Given the description of an element on the screen output the (x, y) to click on. 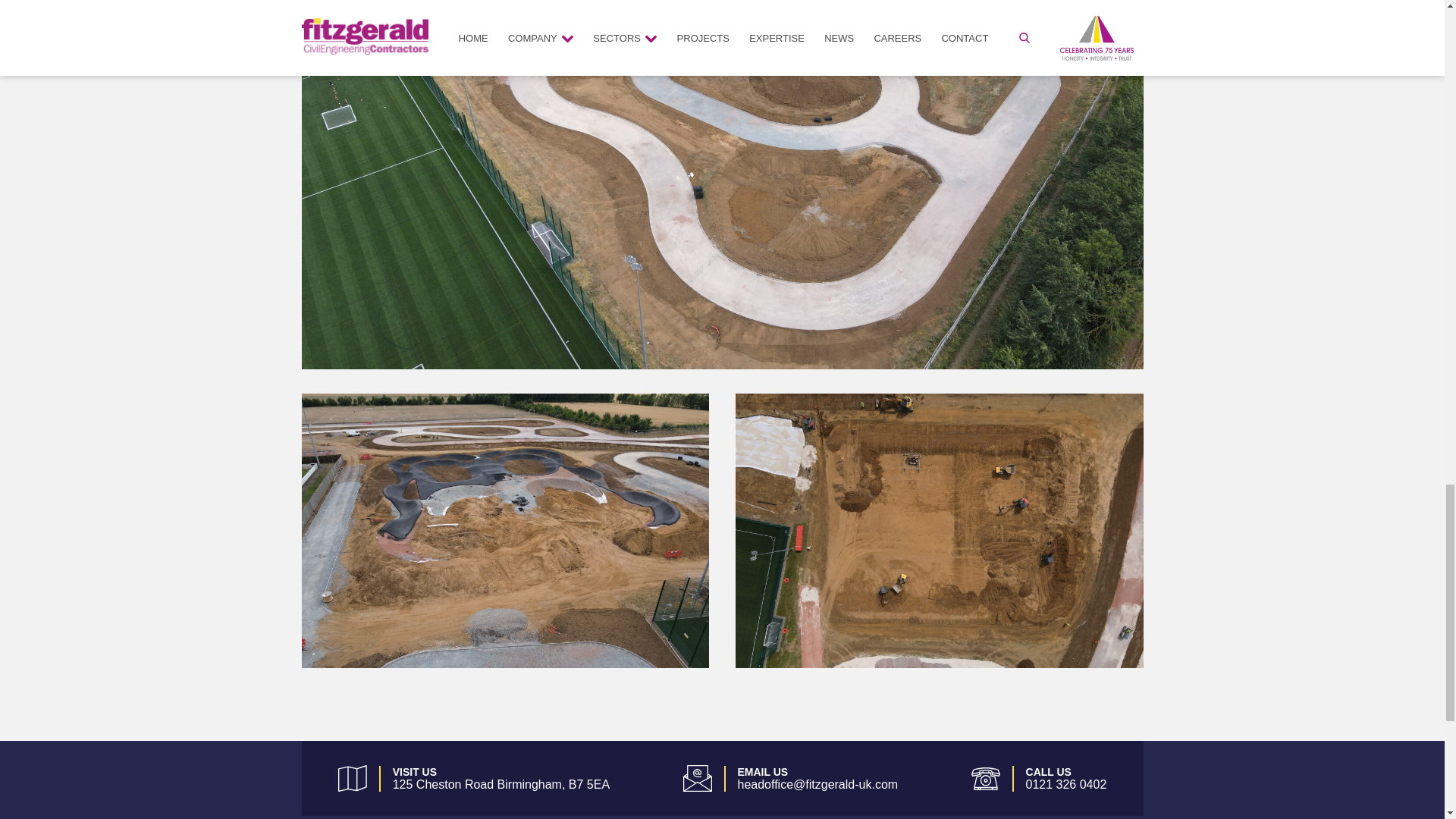
125 Cheston Road Birmingham, B7 5EA (501, 784)
0121 326 0402 (1066, 784)
